Given the description of an element on the screen output the (x, y) to click on. 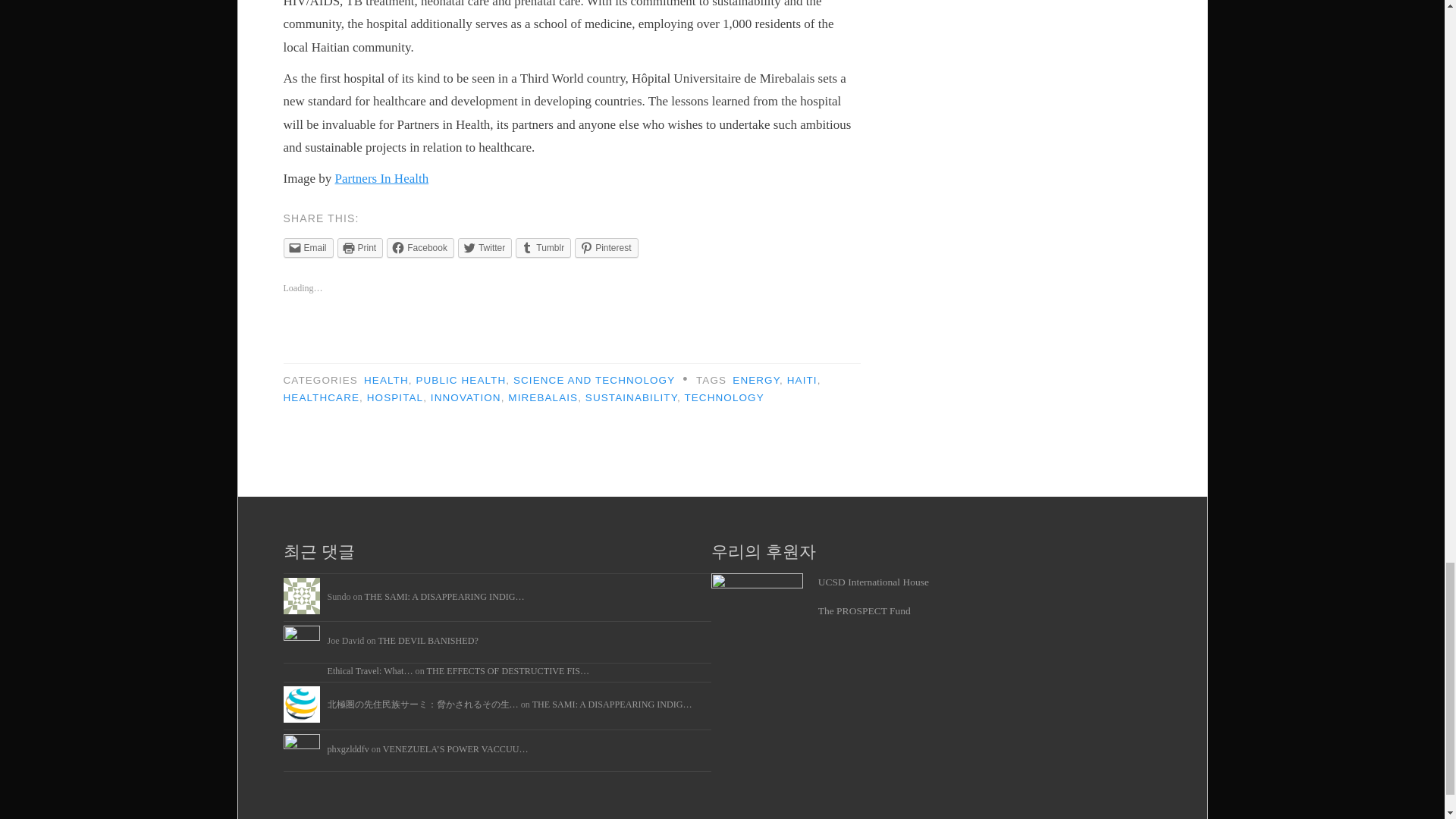
ENERGY (755, 379)
Click to share on Twitter (485, 247)
SCIENCE AND TECHNOLOGY (594, 379)
Click to share on Tumblr (542, 247)
Click to share on Pinterest (606, 247)
HEALTHCARE (321, 397)
PUBLIC HEALTH (459, 379)
Pinterest (606, 247)
Facebook (420, 247)
Click to email this to a friend (308, 247)
HEALTH (386, 379)
Twitter (485, 247)
Print (360, 247)
Email (308, 247)
